Given the description of an element on the screen output the (x, y) to click on. 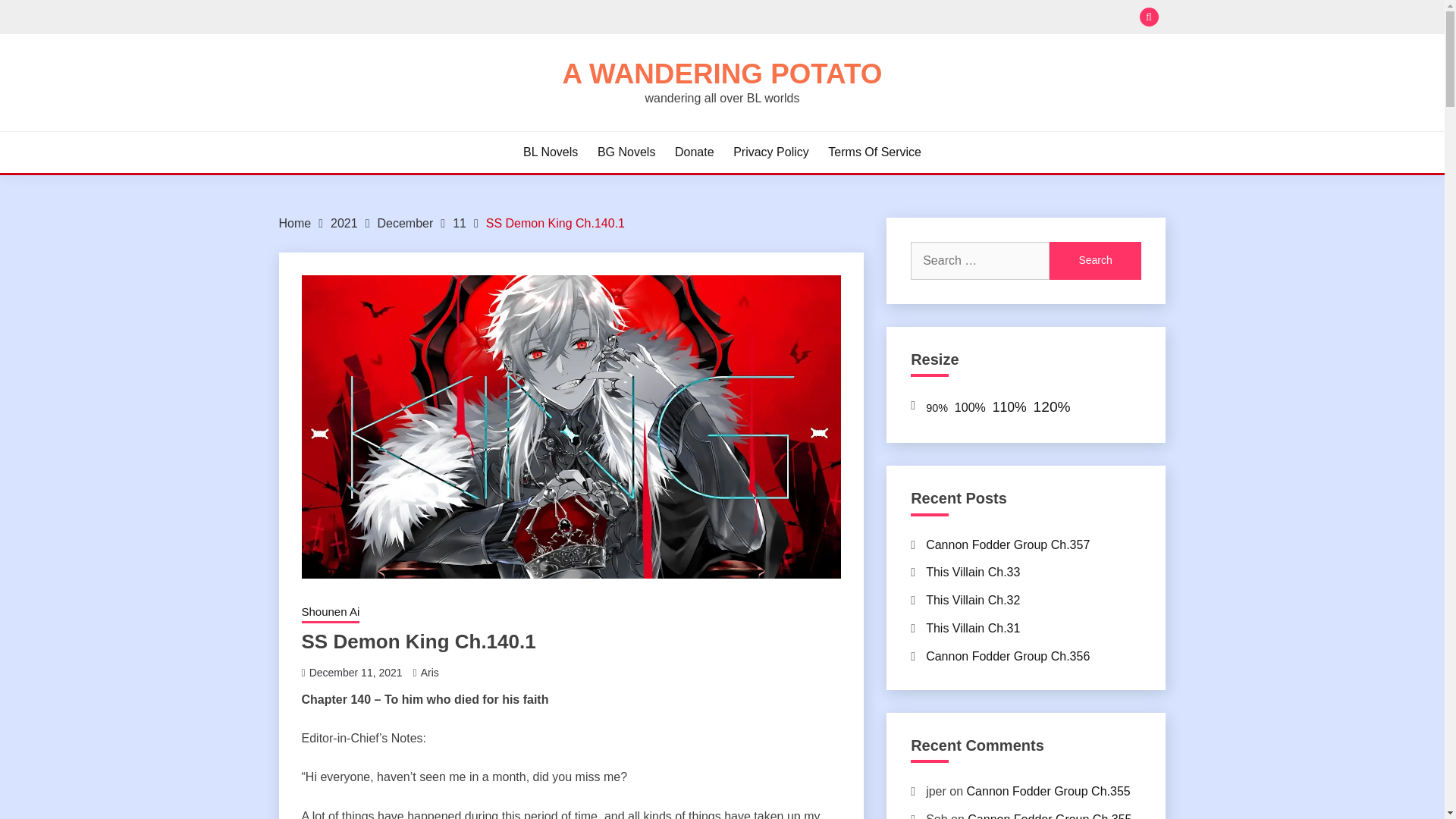
Terms Of Service (874, 152)
Search (832, 18)
Privacy Policy (771, 152)
Donate (694, 152)
December (404, 223)
Aris (429, 672)
A WANDERING POTATO (722, 73)
Home (295, 223)
Shounen Ai (330, 613)
BL Novels (550, 152)
2021 (344, 223)
11 (458, 223)
December 11, 2021 (355, 672)
BG Novels (625, 152)
SS Demon King Ch.140.1 (555, 223)
